Given the description of an element on the screen output the (x, y) to click on. 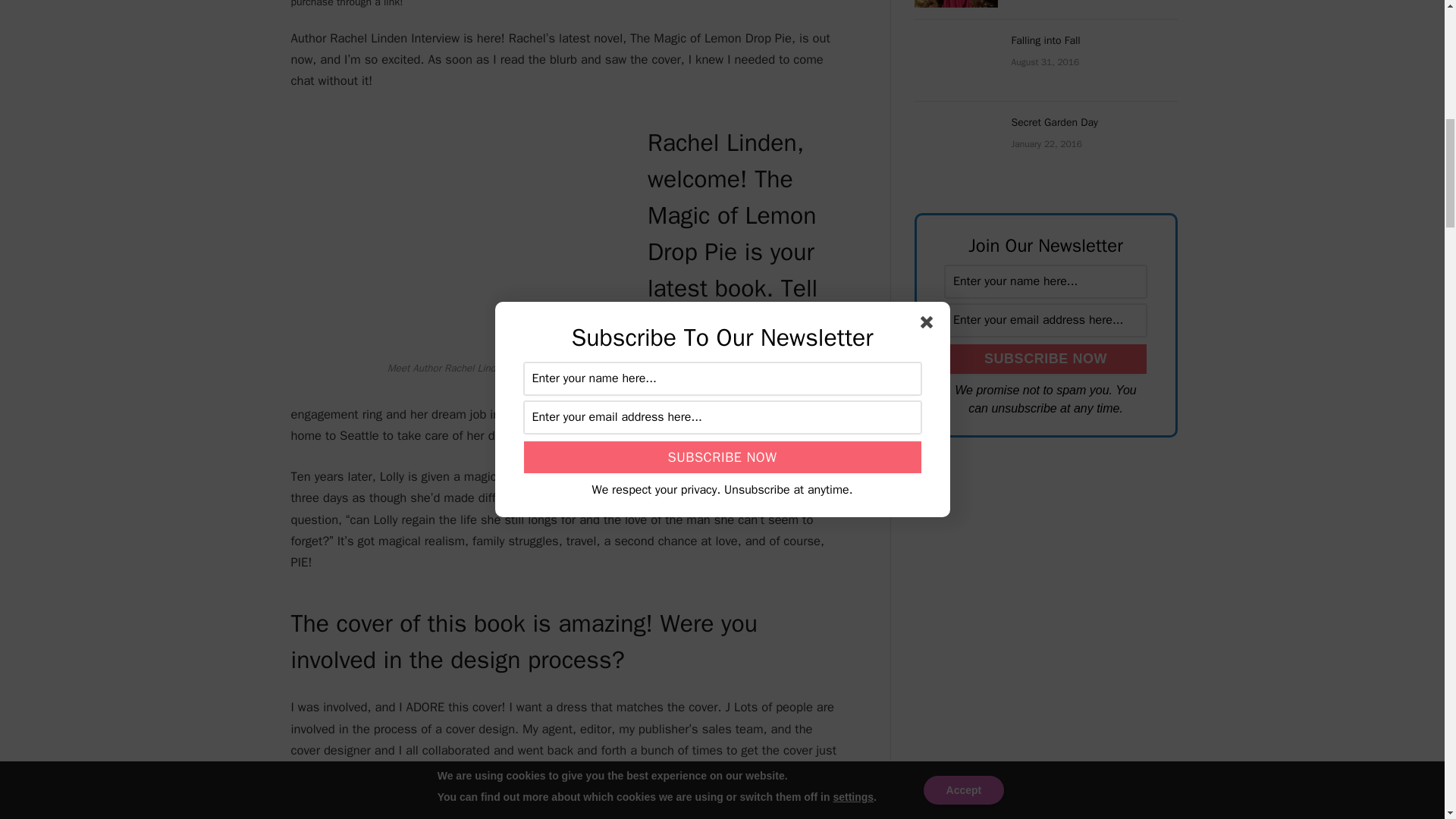
Subscribe Now (1045, 358)
